Given the description of an element on the screen output the (x, y) to click on. 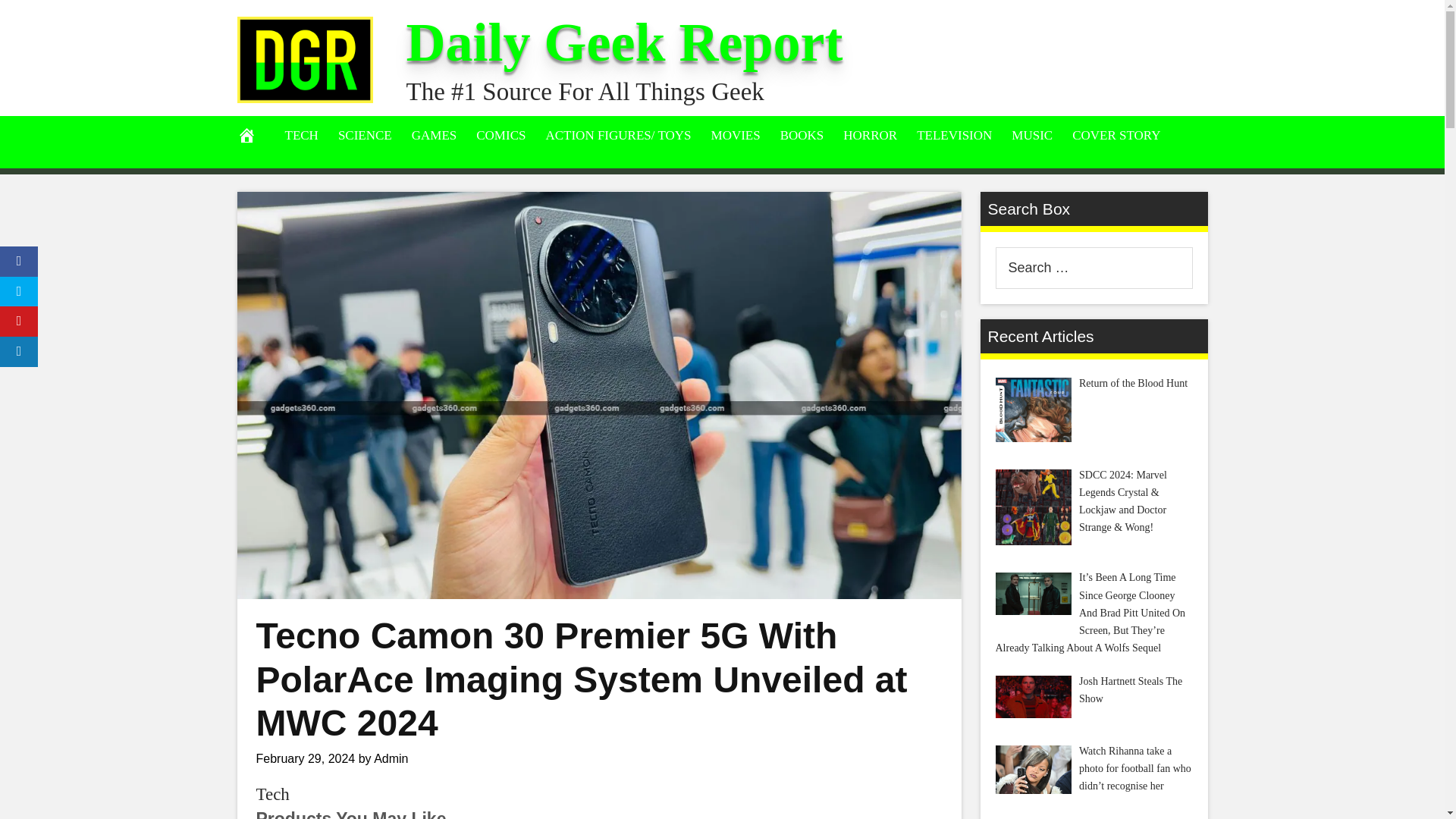
HORROR (869, 134)
BOOKS (802, 134)
MUSIC (1031, 134)
TECH (301, 134)
Tech (272, 793)
SCIENCE (365, 134)
CONTACT (265, 172)
Josh Hartnett Steals The Show (1032, 696)
COVER STORY (1116, 134)
COMICS (500, 134)
MOVIES (735, 134)
Daily Geek Report (624, 42)
GAMES (434, 134)
TELEVISION (954, 134)
